Given the description of an element on the screen output the (x, y) to click on. 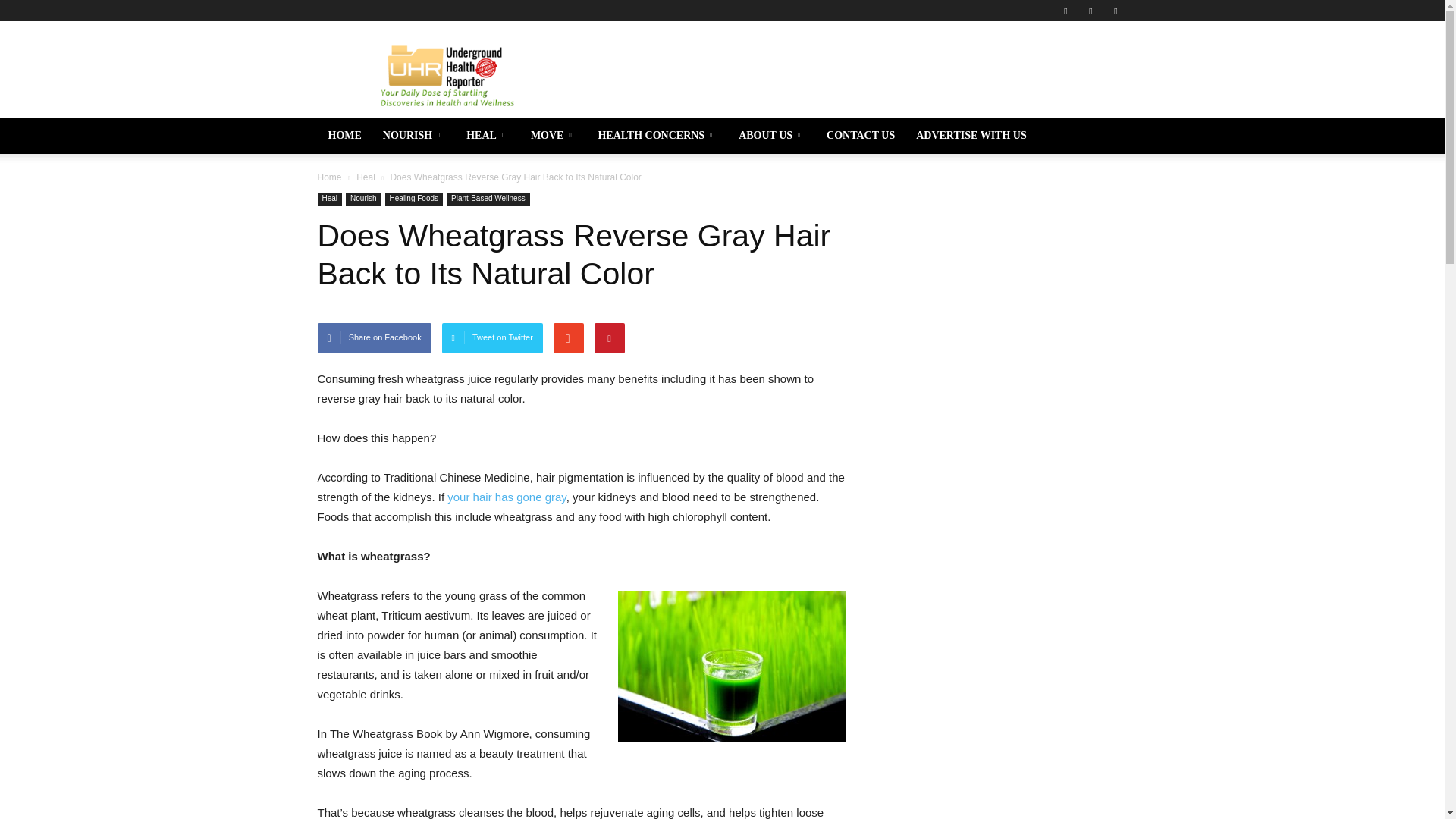
Instagram (1090, 10)
Using Wheatgrass Health Benefits To Reverse Gray Hair (506, 496)
Advertisement (850, 76)
Youtube (1114, 10)
View all posts in Heal (365, 176)
Facebook (1065, 10)
